Given the description of an element on the screen output the (x, y) to click on. 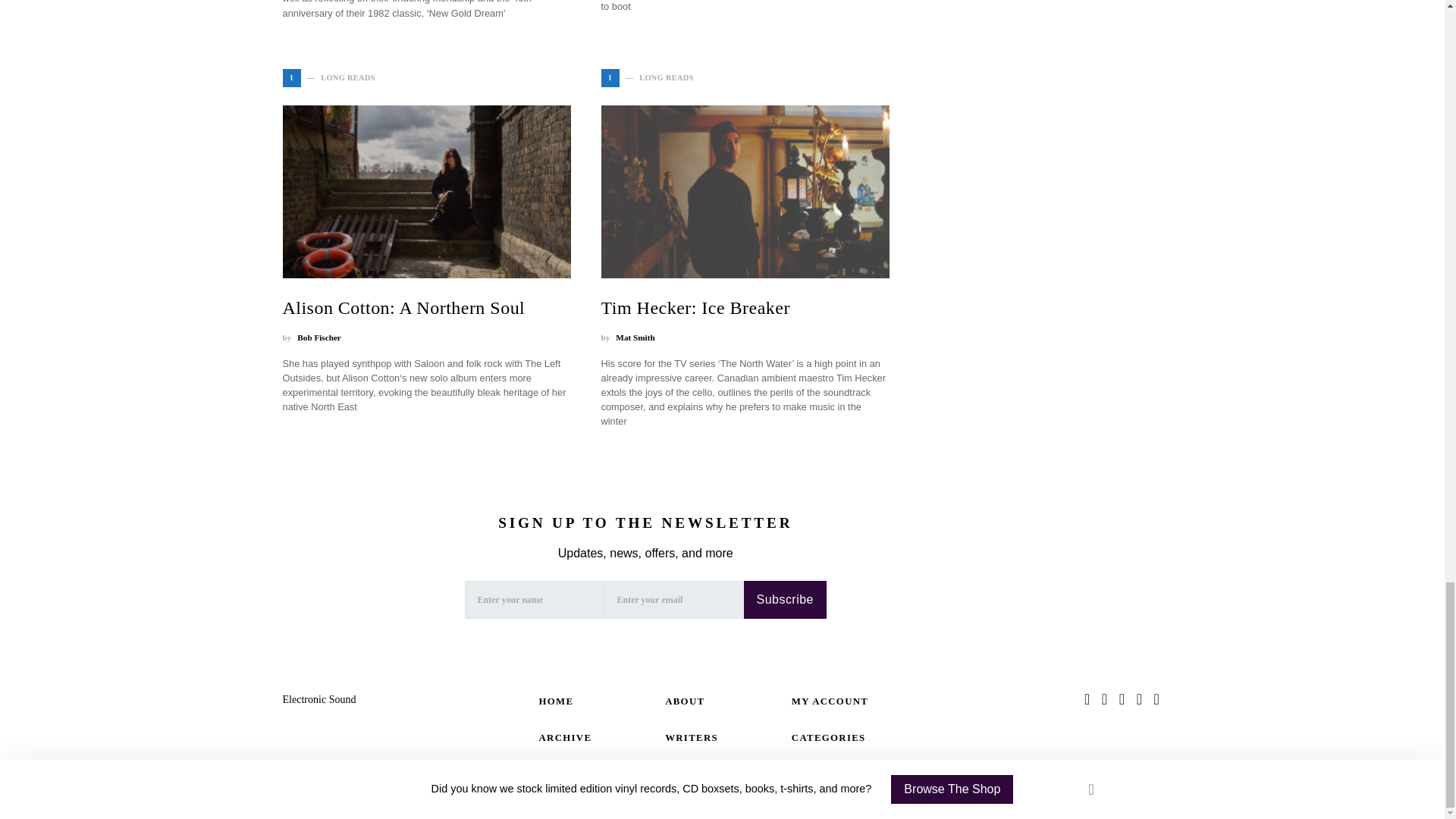
View all posts by Mat Smith (634, 337)
View all posts by Bob Fischer (318, 337)
